Given the description of an element on the screen output the (x, y) to click on. 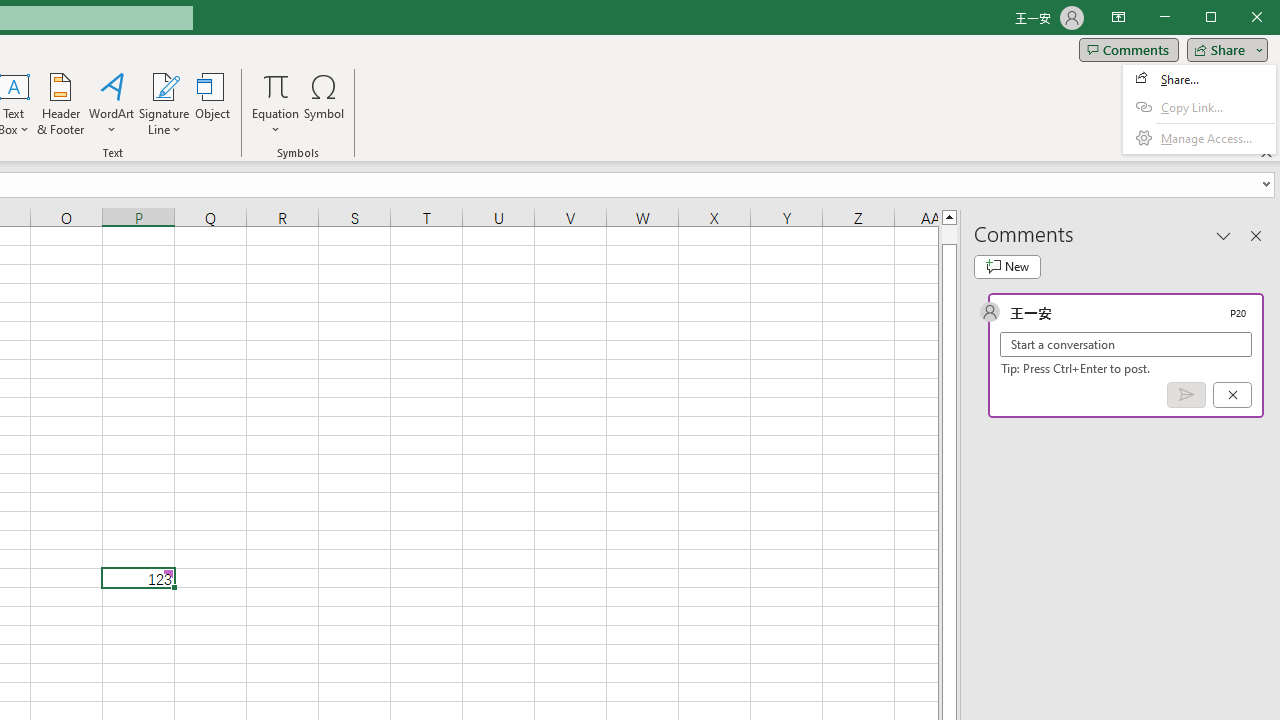
Equation (275, 86)
New comment (1007, 266)
Maximize (1239, 18)
Symbol... (324, 104)
WordArt (111, 104)
Start a conversation (1126, 344)
Post comment (Ctrl + Enter) (1186, 395)
Page up (948, 234)
Signature Line (164, 86)
Header & Footer... (60, 104)
